Given the description of an element on the screen output the (x, y) to click on. 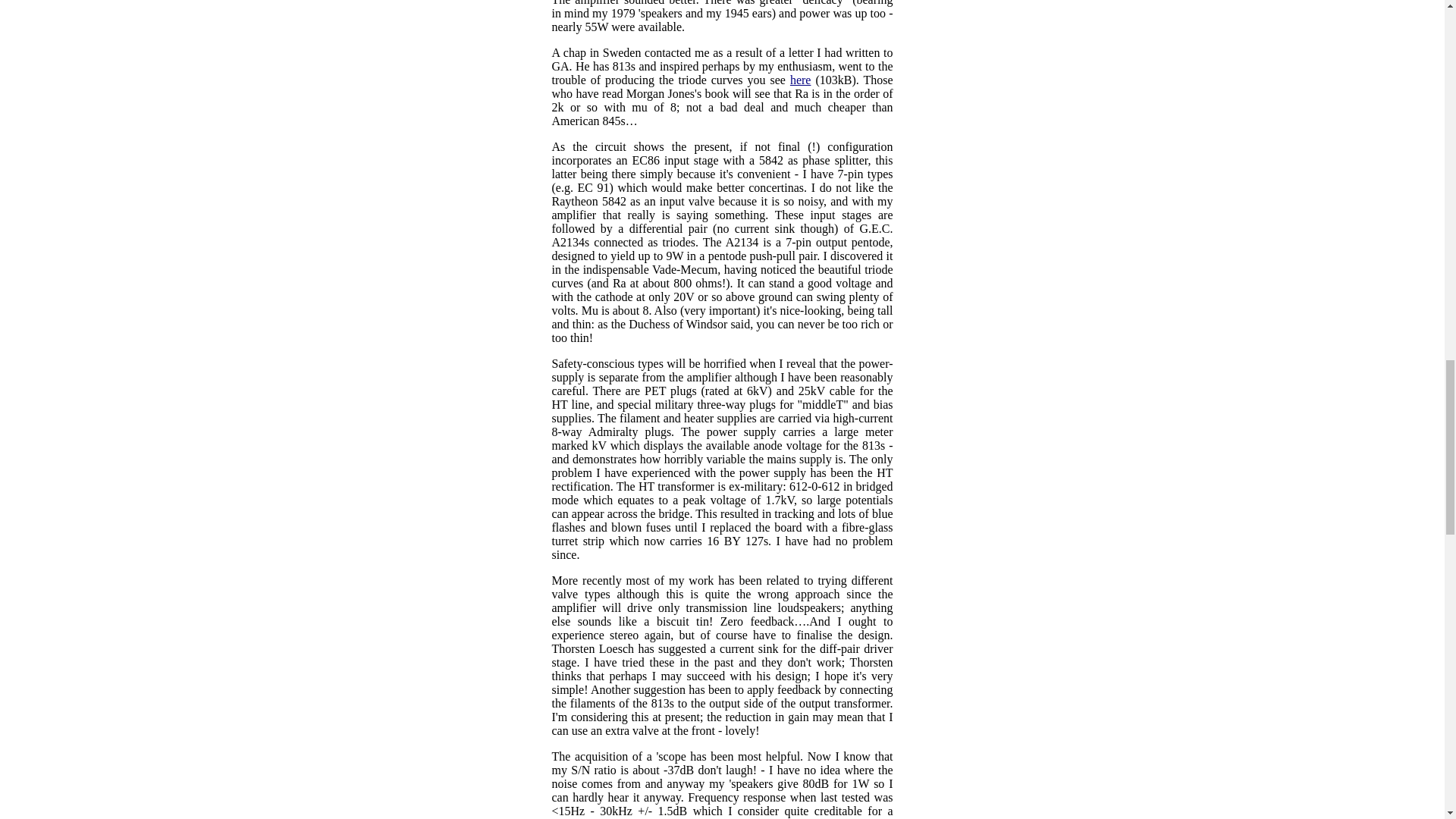
here (800, 79)
